Given the description of an element on the screen output the (x, y) to click on. 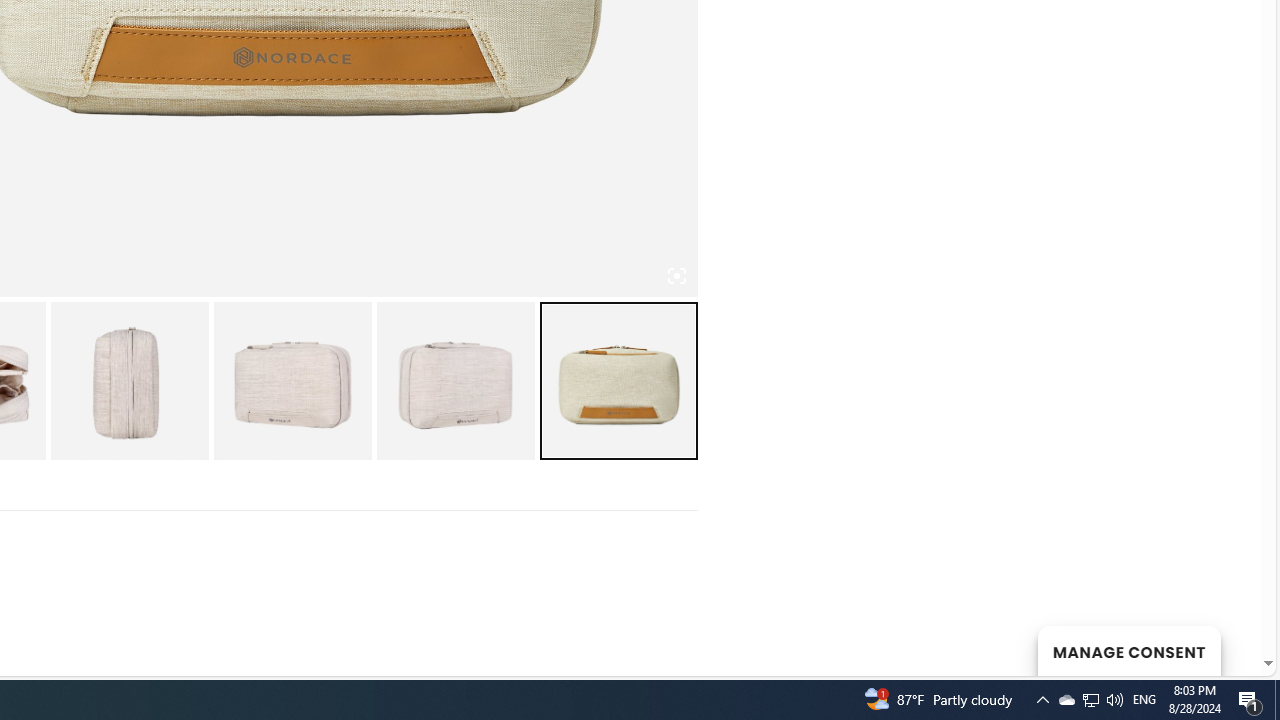
Nordace Siena Pro Wash Pouch (128, 380)
MANAGE CONSENT (1128, 650)
Class: iconic-woothumbs-fullscreen (676, 276)
